Given the description of an element on the screen output the (x, y) to click on. 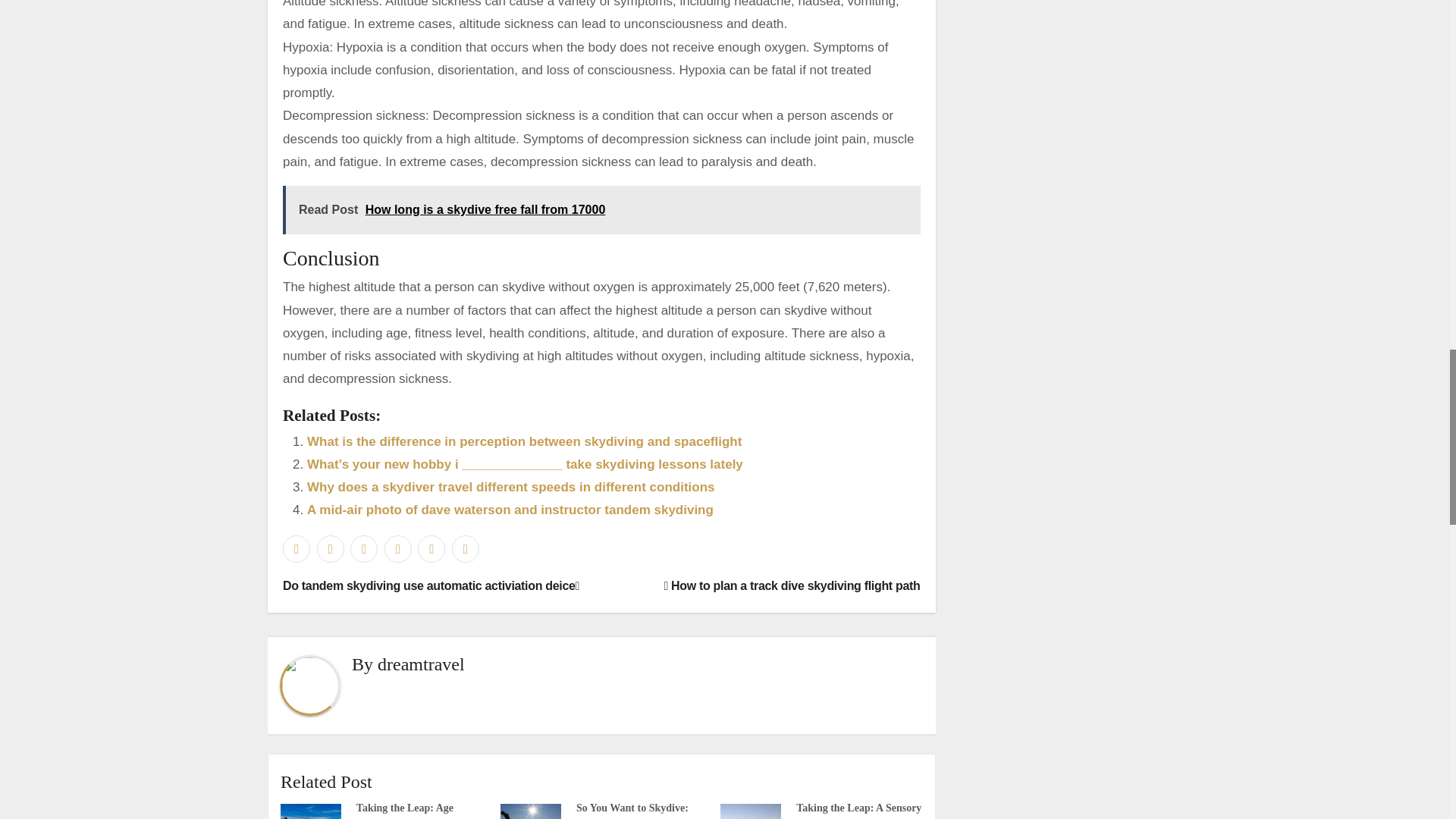
Read Post  How long is a skydive free fall from 17000 (601, 209)
